Given the description of an element on the screen output the (x, y) to click on. 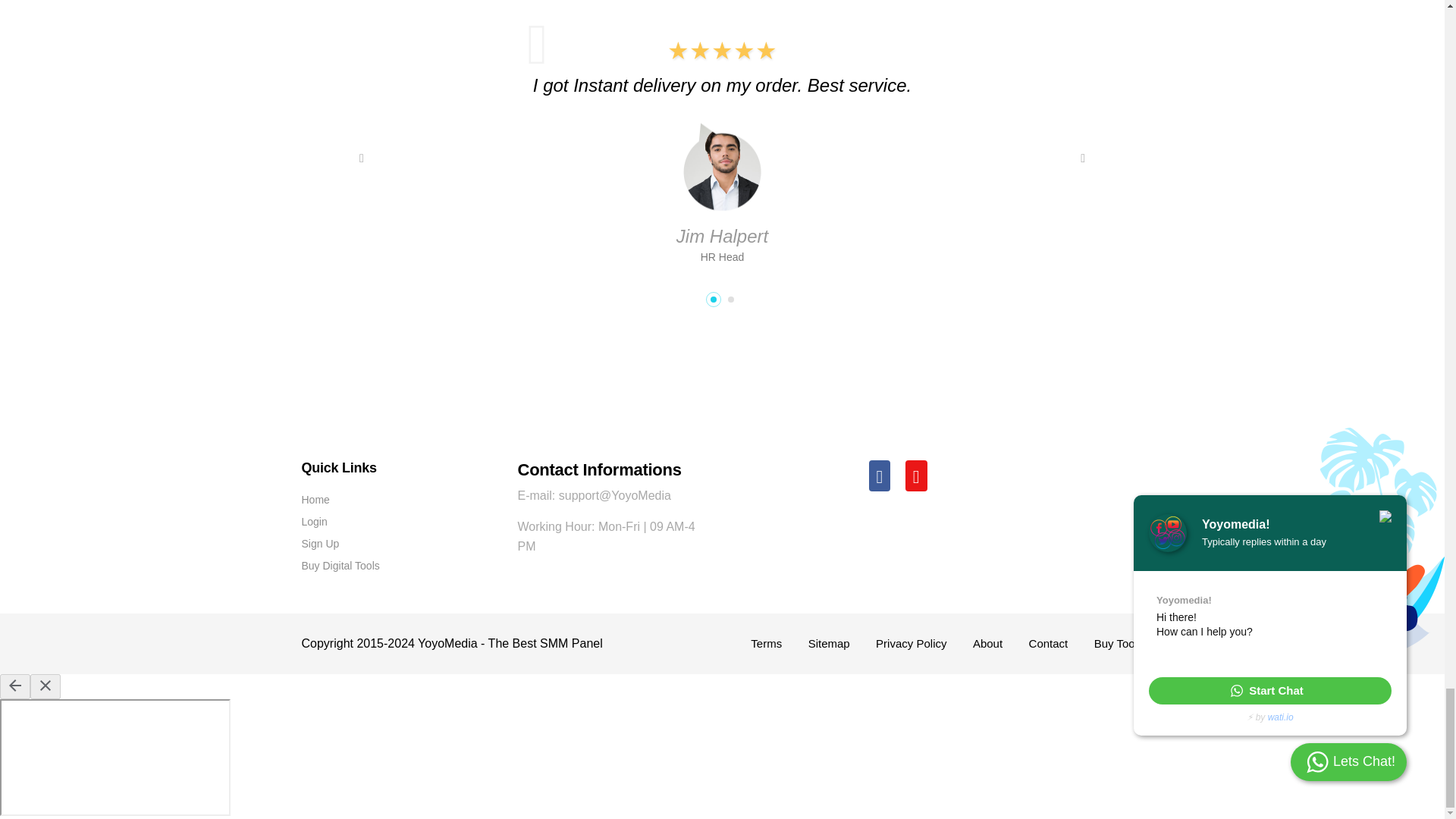
Privacy Policy (911, 643)
Home (315, 499)
Buy Digital Tools (340, 565)
About (987, 643)
Login (314, 521)
Sign Up (320, 543)
Sitemap (829, 643)
Terms (766, 643)
